Given the description of an element on the screen output the (x, y) to click on. 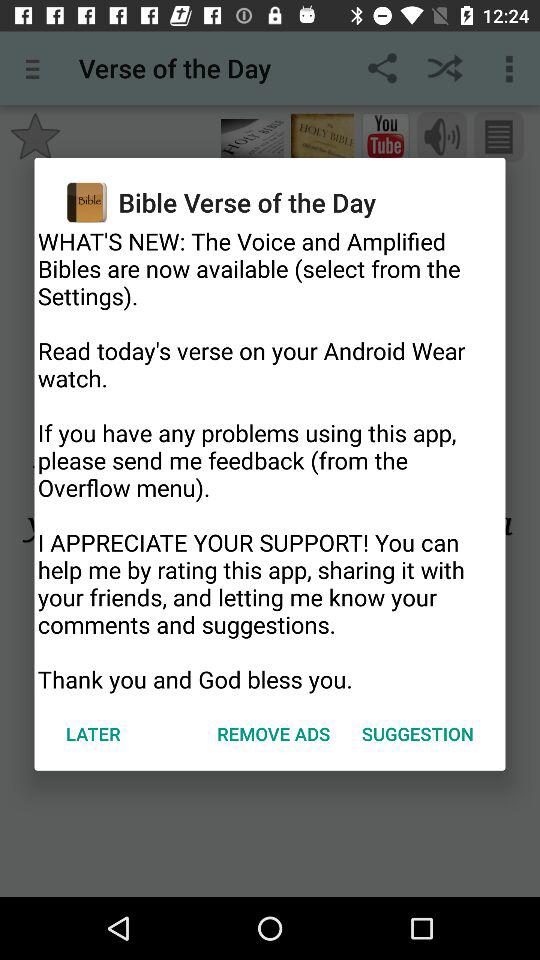
jump to remove ads icon (273, 733)
